Given the description of an element on the screen output the (x, y) to click on. 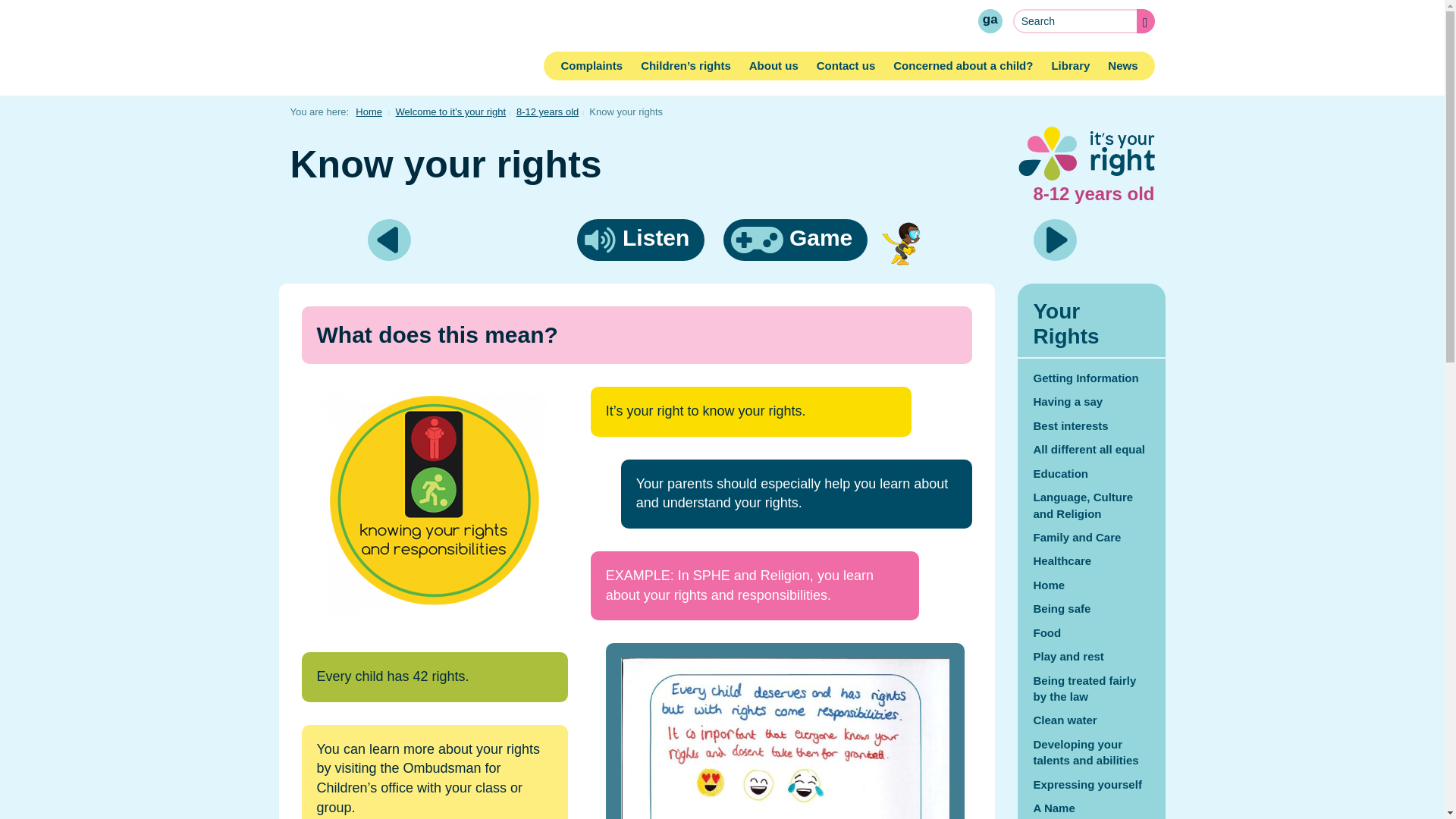
A Name (389, 240)
8-12 years old (547, 111)
Nationality (1055, 240)
Being safe (1091, 608)
News (1122, 65)
Listen (640, 240)
Game (795, 240)
Concerned about a child? (963, 65)
Library (1070, 65)
Home (368, 111)
Family and Care (1091, 536)
Language, Culture and Religion (1091, 505)
Getting Information (1091, 377)
News (1122, 65)
Best interests (1091, 425)
